Given the description of an element on the screen output the (x, y) to click on. 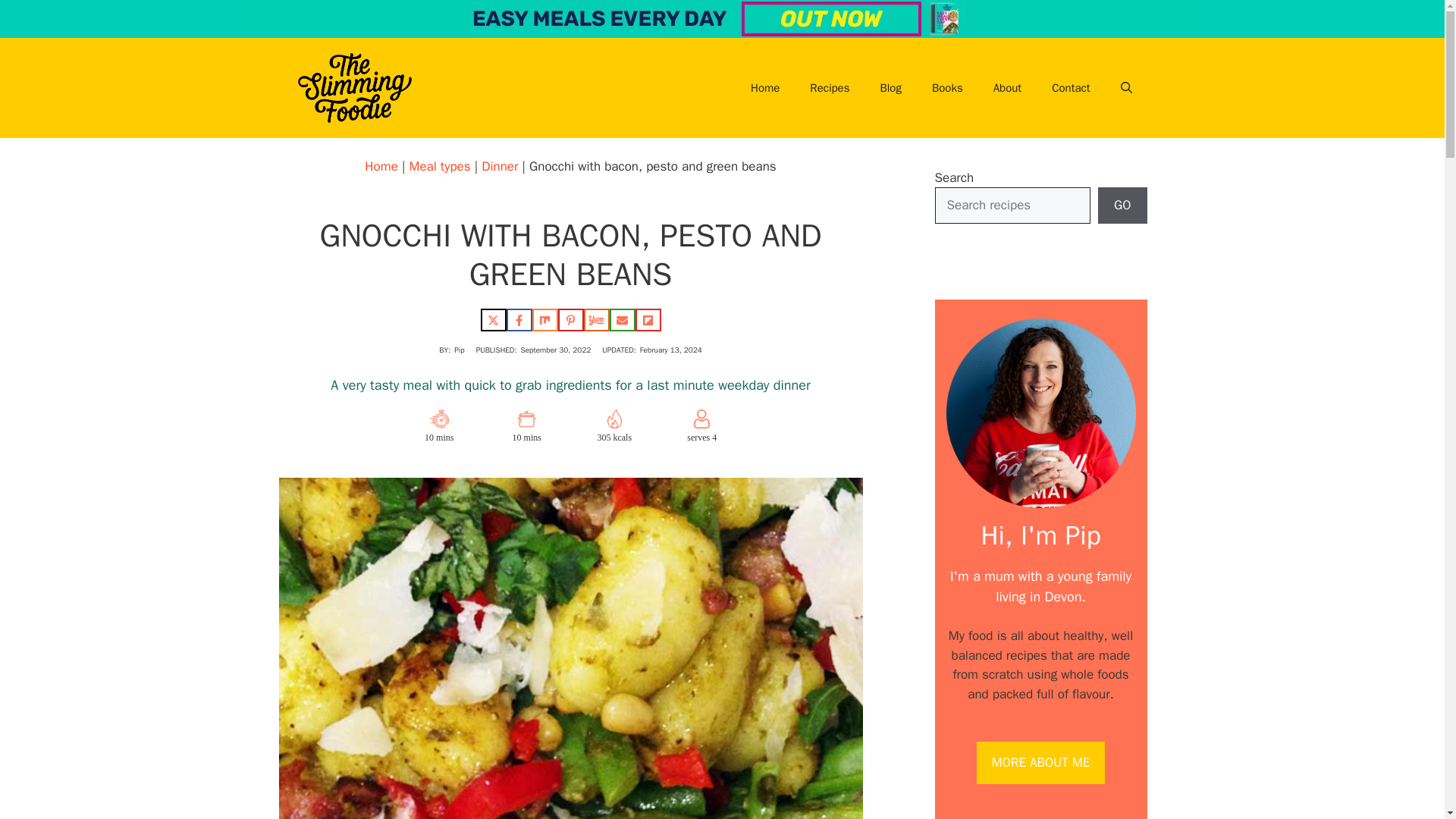
Home (764, 87)
Books (947, 87)
Home (381, 166)
Meal types (439, 166)
Home (381, 166)
Meal types (439, 166)
About (1007, 87)
Contact (1070, 87)
Blog (889, 87)
Dinner (499, 166)
